Given the description of an element on the screen output the (x, y) to click on. 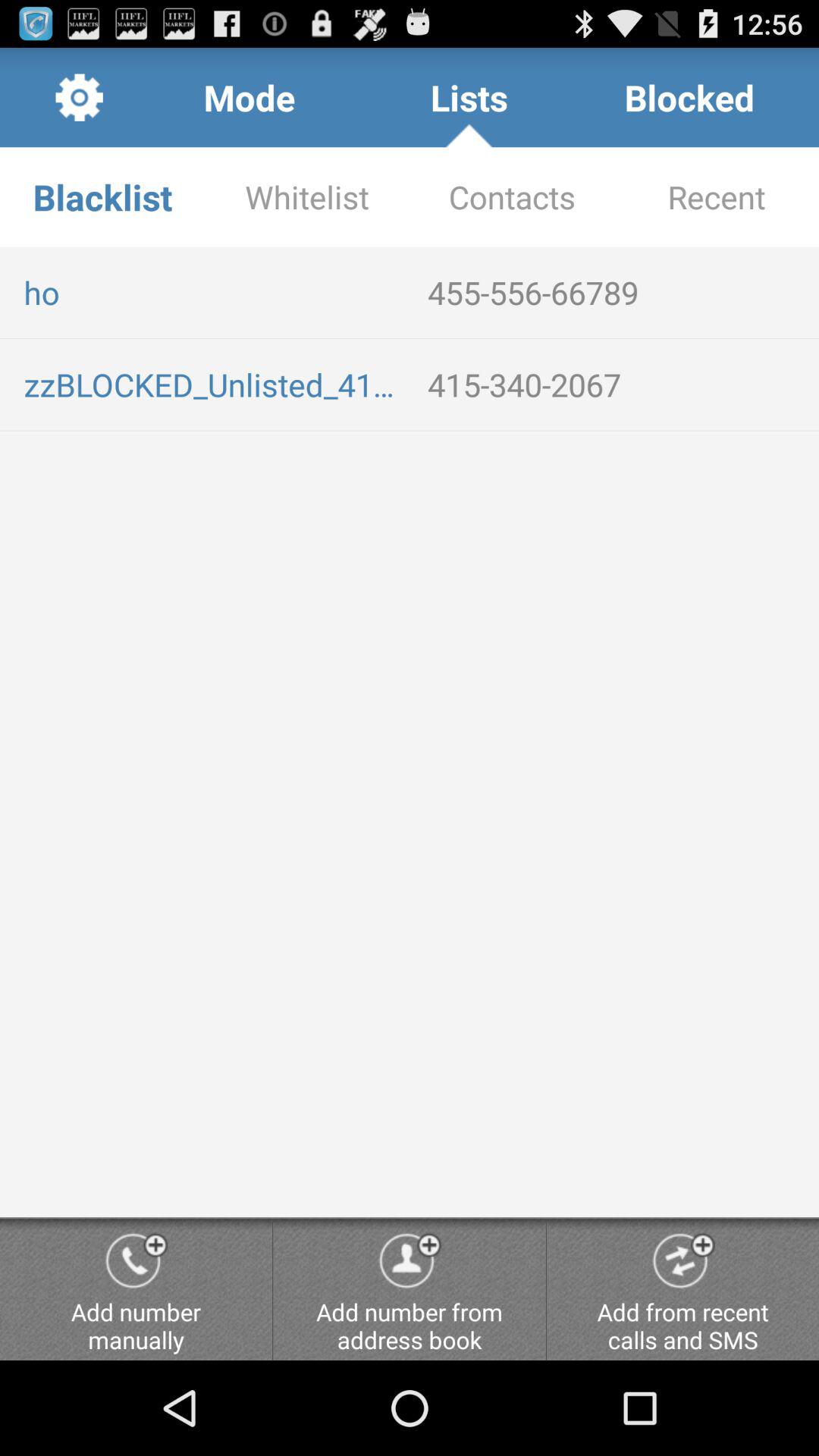
open the item next to blacklist app (306, 196)
